Given the description of an element on the screen output the (x, y) to click on. 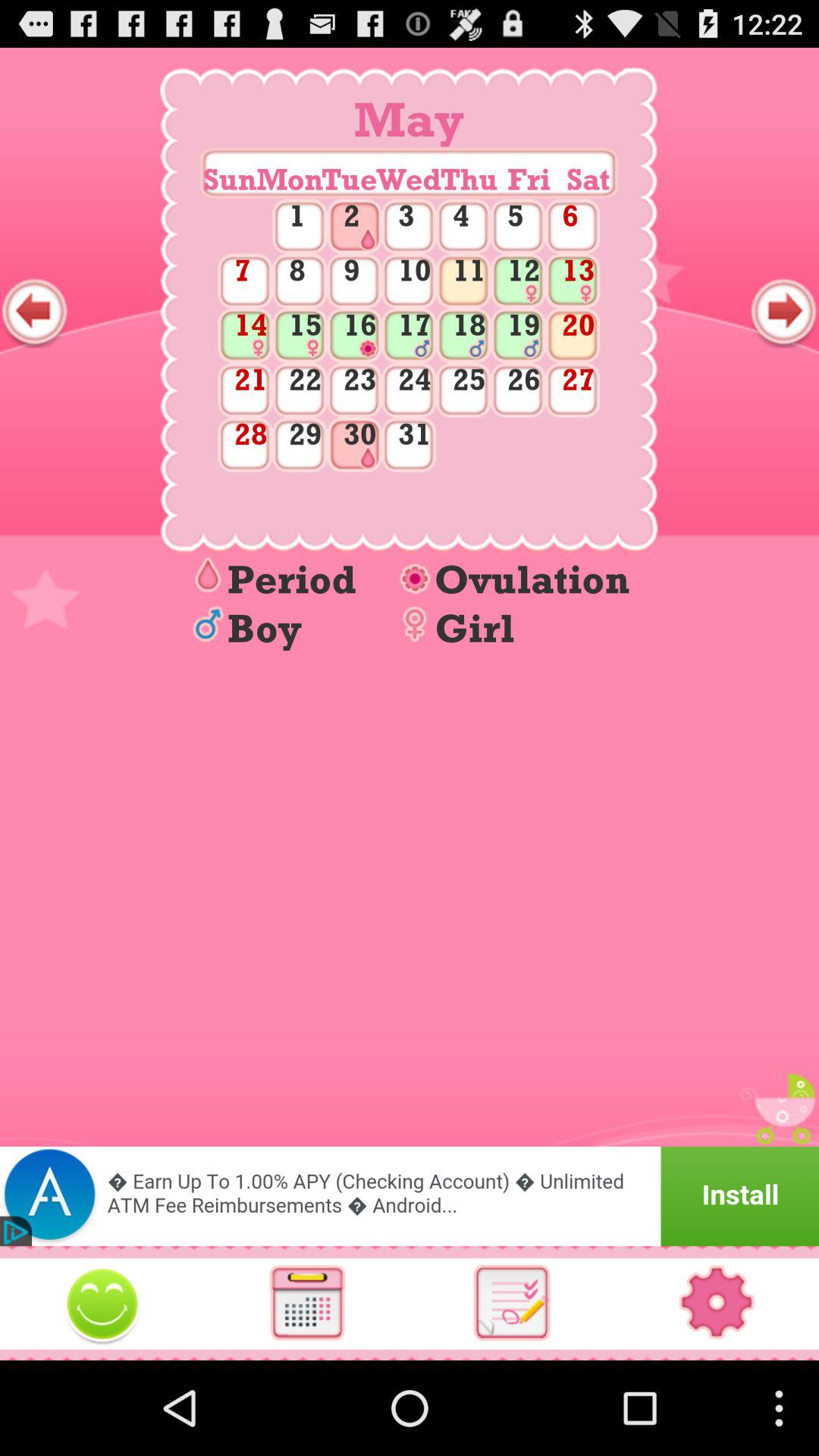
open advertisements detail (409, 1196)
